Given the description of an element on the screen output the (x, y) to click on. 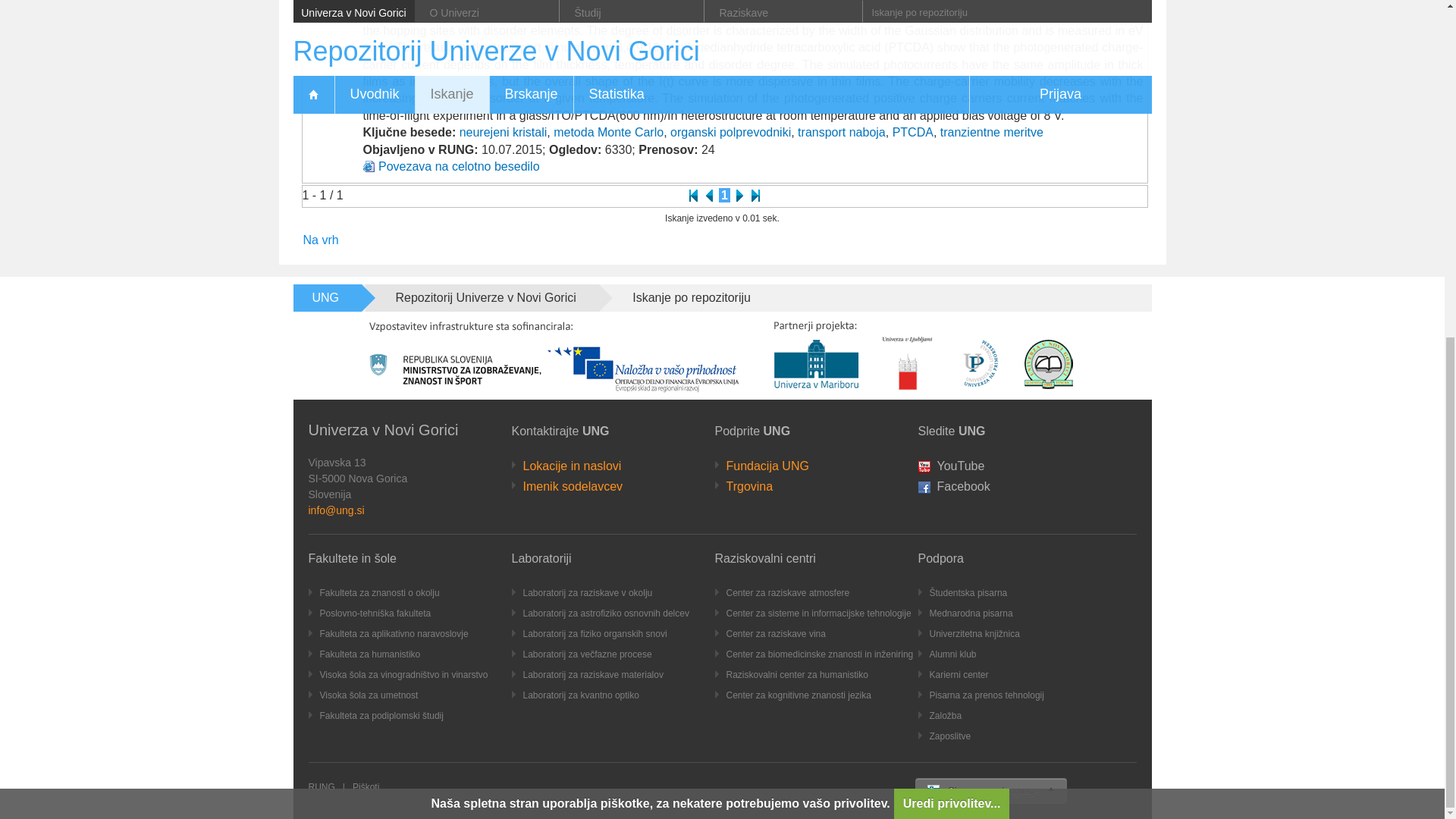
tranzientne meritve (991, 132)
UNG (326, 297)
metoda Monte Carlo (608, 132)
Iskanje po repozitoriju (687, 297)
Povezava na celotno besedilo (459, 165)
PTCDA (912, 132)
Na konec (755, 195)
Na naslednjo stran (740, 195)
transport naboja (841, 132)
Univerza v Novi Gorici (382, 429)
